Given the description of an element on the screen output the (x, y) to click on. 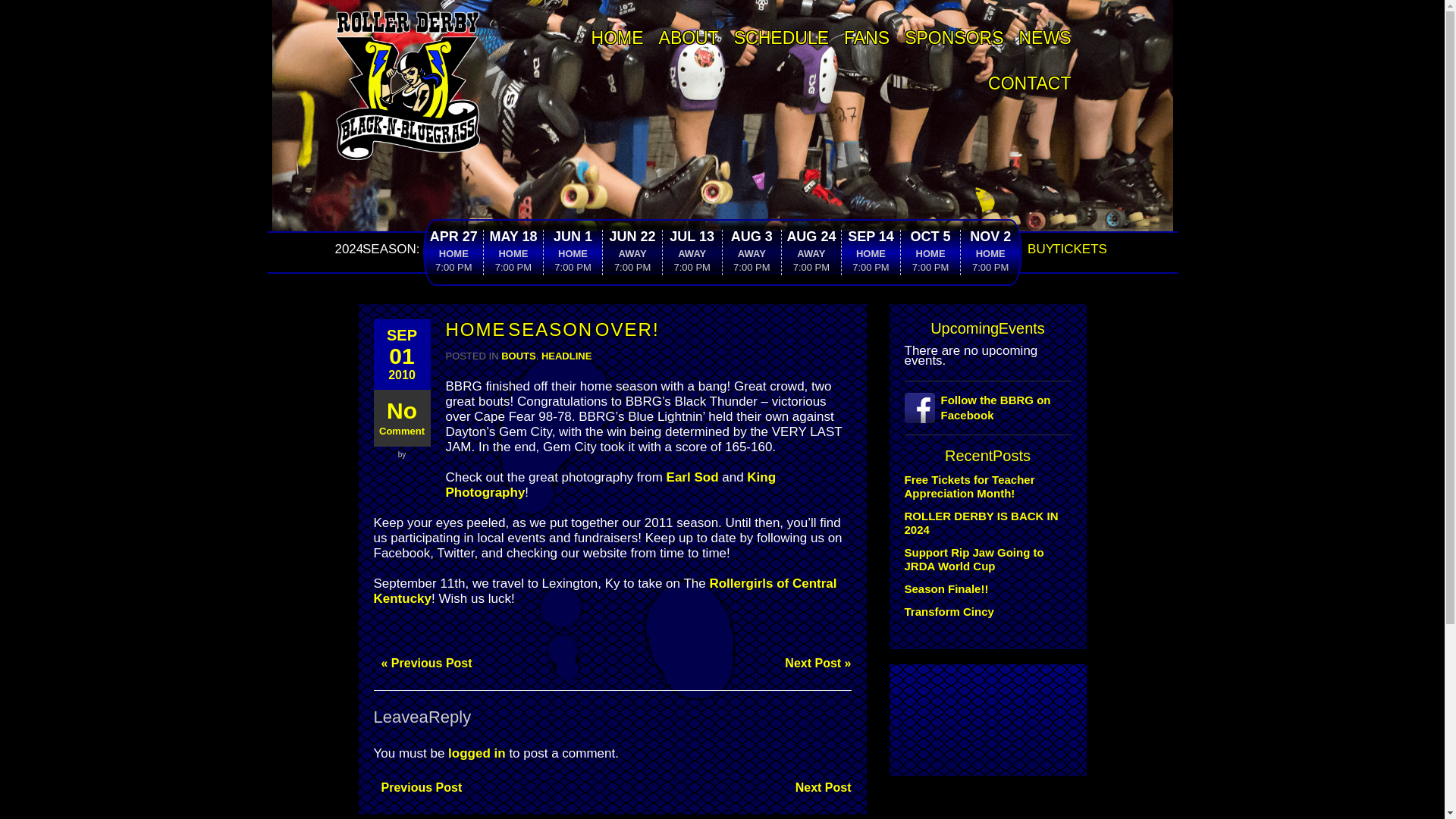
SCHEDULE (780, 37)
HEADLINE (566, 355)
Free Tickets for Teacher Appreciation Month! (969, 486)
Previous Post (416, 787)
Recent Posts (987, 455)
ABOUT (689, 37)
Black-n-Bluegrass Roller Derby (406, 18)
Upcoming Events (987, 328)
BUY TICKETS (1066, 248)
BOUTS (517, 355)
SPONSORS (953, 37)
Rollergirls of Central Kentucky (603, 591)
No (400, 410)
Next Post (819, 787)
Earl Sod (692, 477)
